Given the description of an element on the screen output the (x, y) to click on. 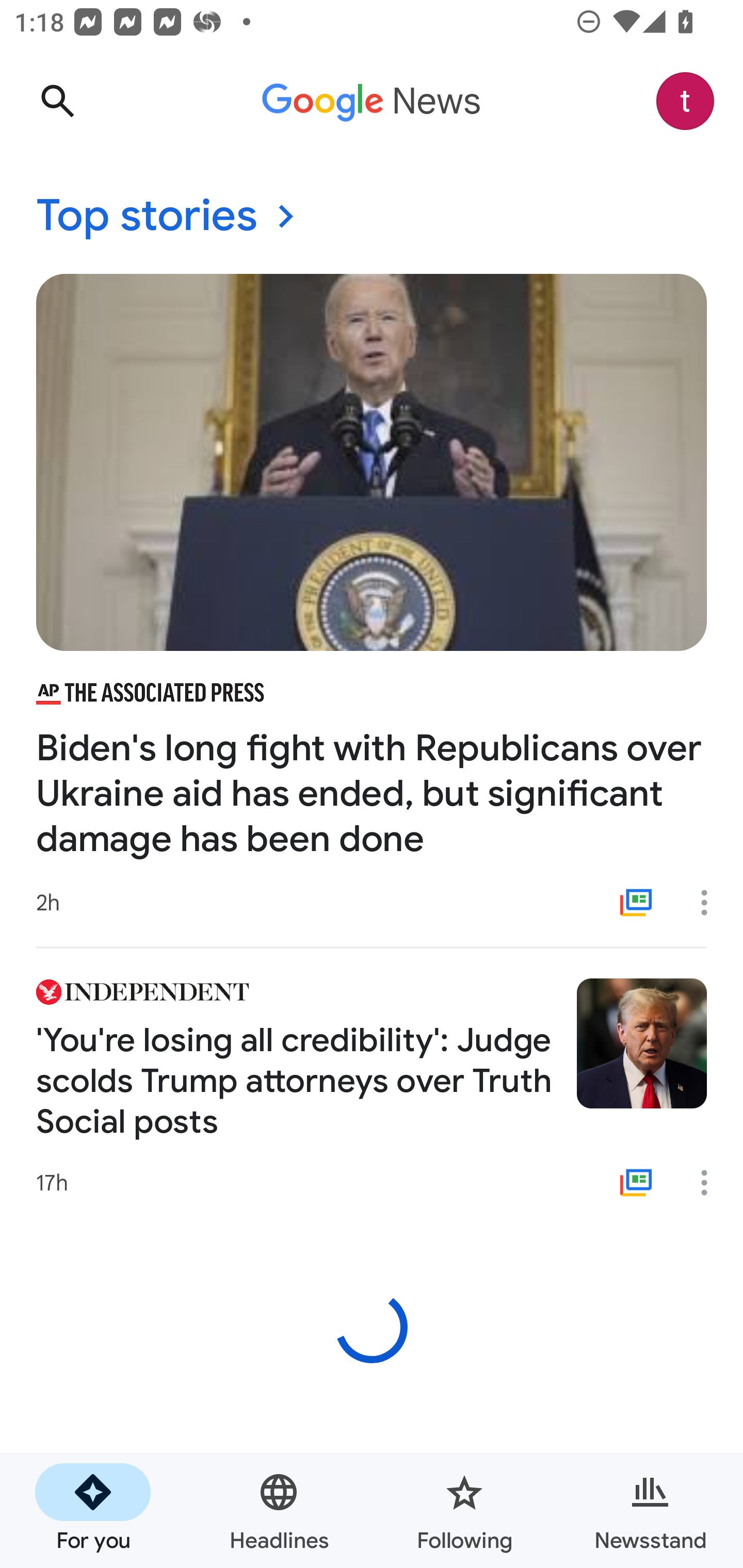
Search (57, 100)
Top stories (371, 216)
More options (711, 902)
More options (711, 1182)
For you (92, 1509)
Headlines (278, 1509)
Following (464, 1509)
Newsstand (650, 1509)
